Given the description of an element on the screen output the (x, y) to click on. 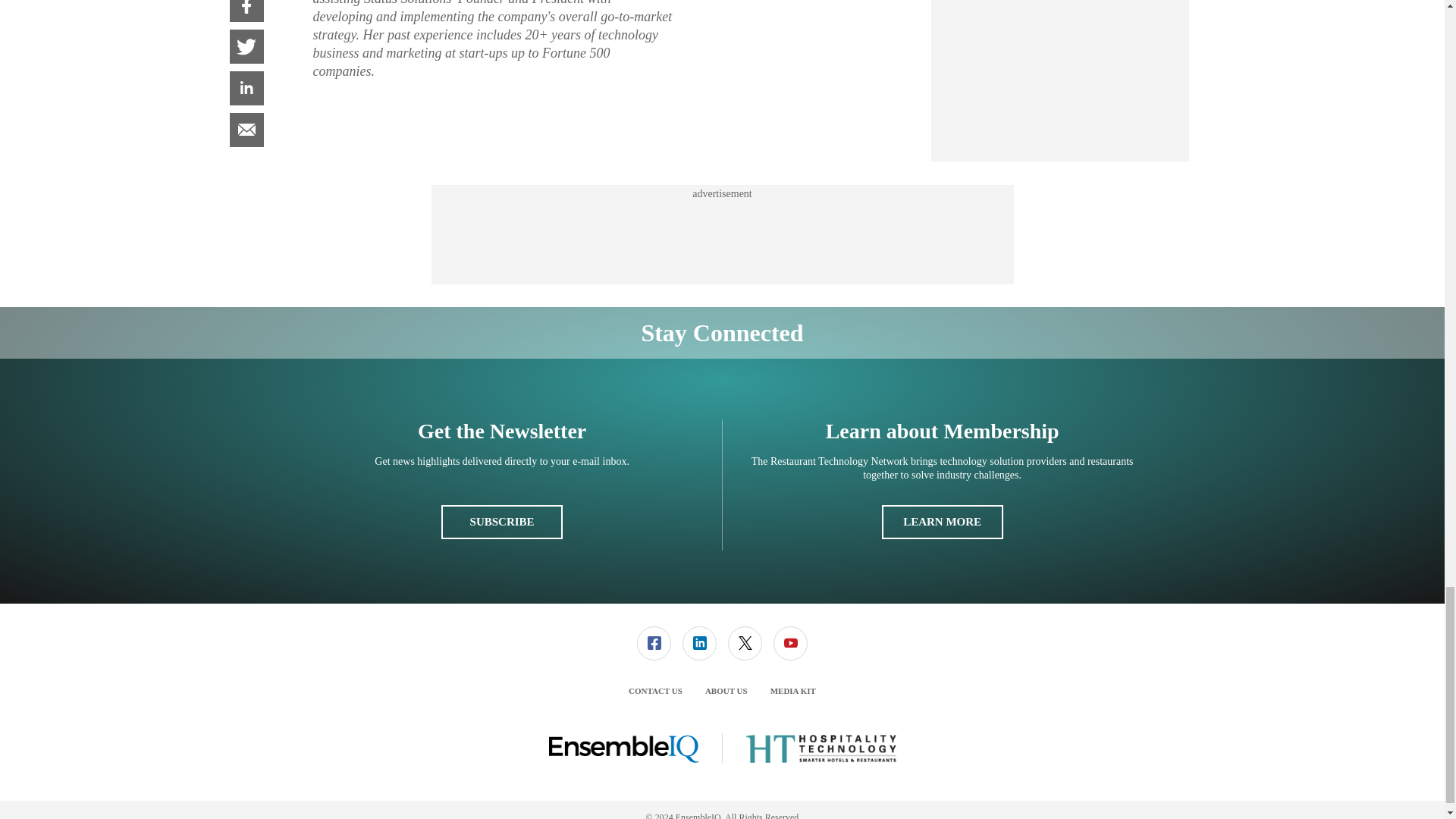
3rd party ad content (721, 234)
MEDIA KIT (792, 690)
CONTACT US (655, 690)
SUBSCRIBE (501, 521)
LEARN MORE (942, 521)
ABOUT US (726, 690)
